Given the description of an element on the screen output the (x, y) to click on. 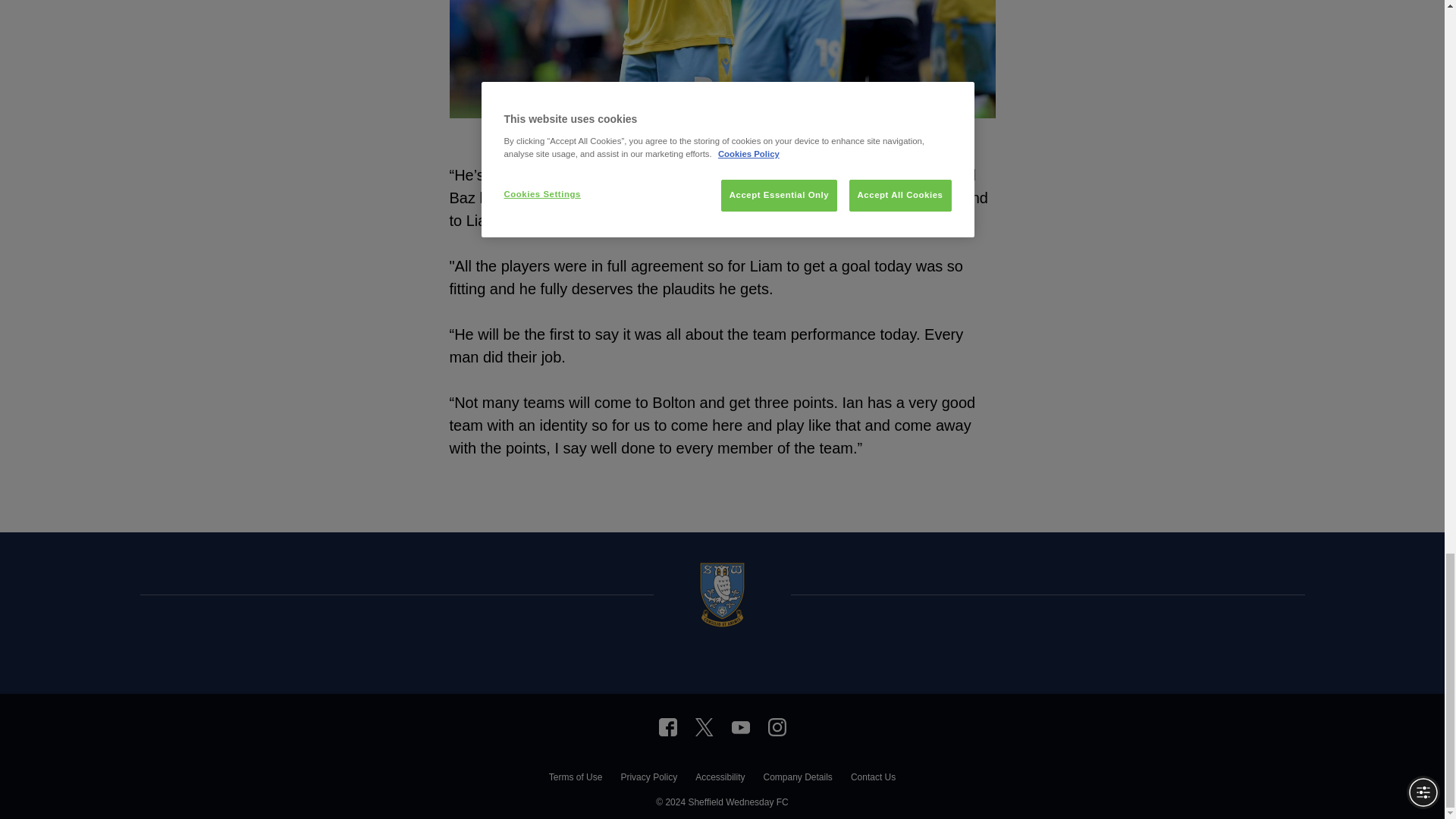
Company Details (796, 779)
Privacy Policy (648, 779)
Terms of Use (575, 779)
Contact Us (872, 779)
Accessibility (719, 779)
Company Details (796, 779)
Terms of Use (575, 779)
Accessibility (719, 779)
Privacy Policy (648, 779)
sheffieldwednesday (667, 727)
Contact Us (872, 779)
